Given the description of an element on the screen output the (x, y) to click on. 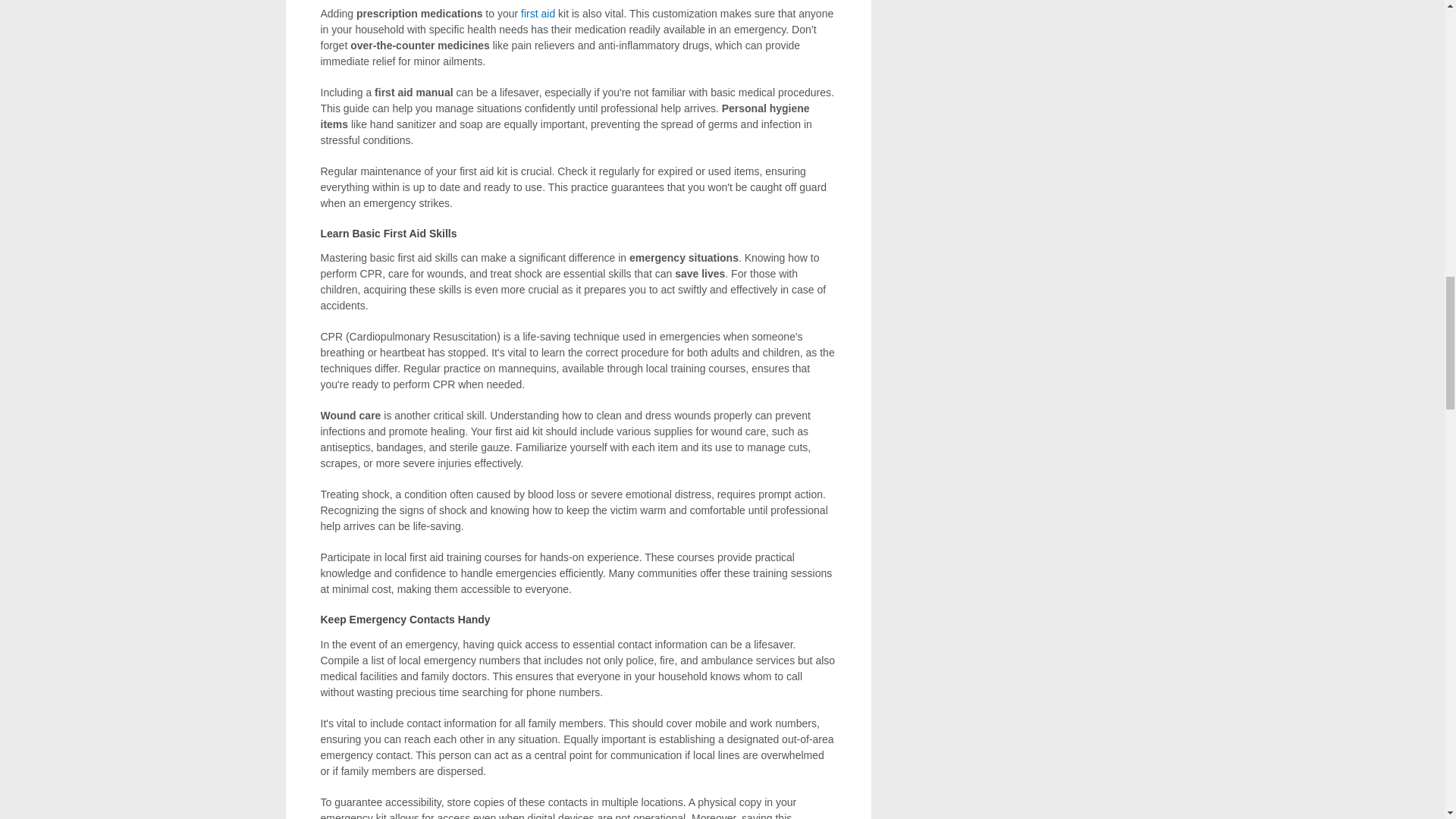
first aid (537, 13)
First Aid Medical Kits (537, 13)
